Given the description of an element on the screen output the (x, y) to click on. 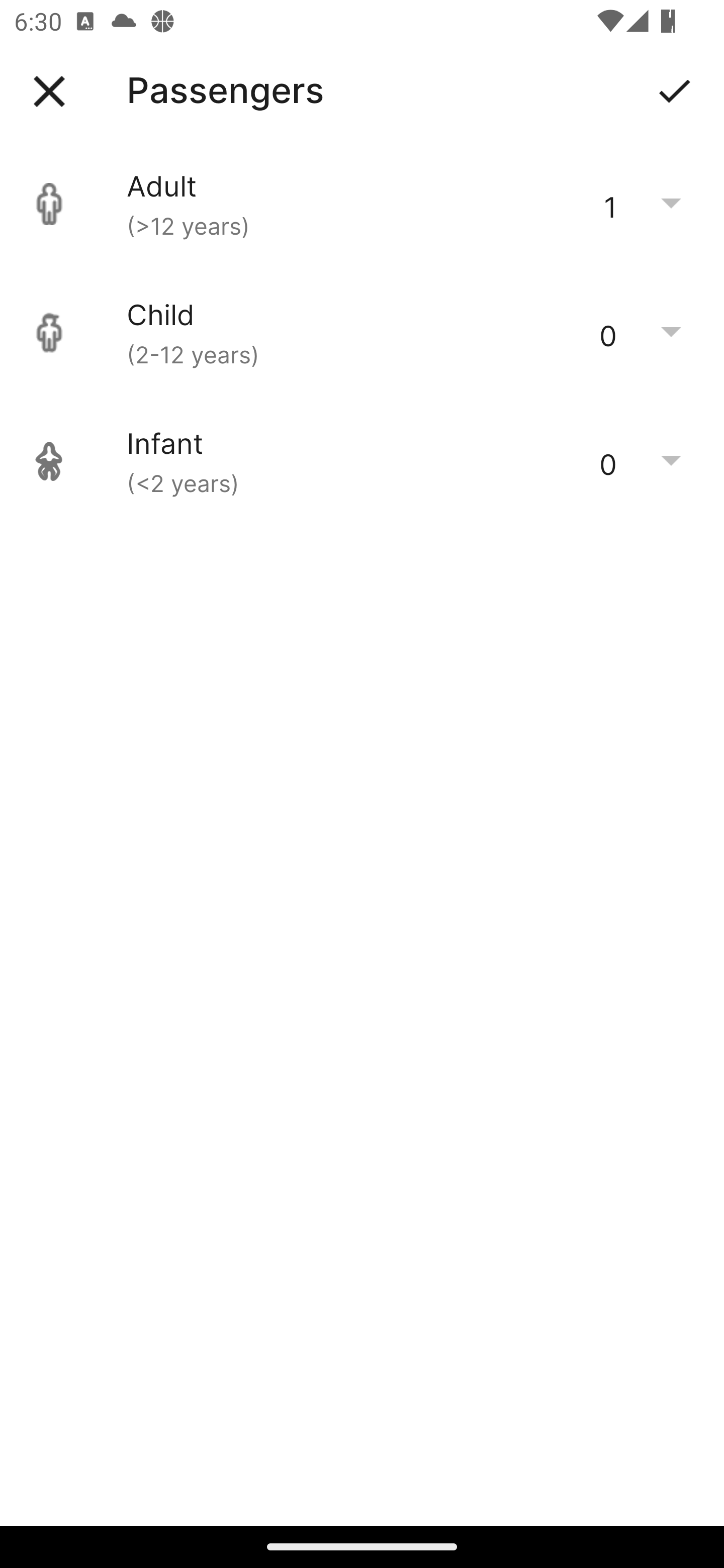
Adult (>12 years) 1 (362, 204)
Child (2-12 years) 0 (362, 332)
Infant (<2 years) 0 (362, 461)
